Given the description of an element on the screen output the (x, y) to click on. 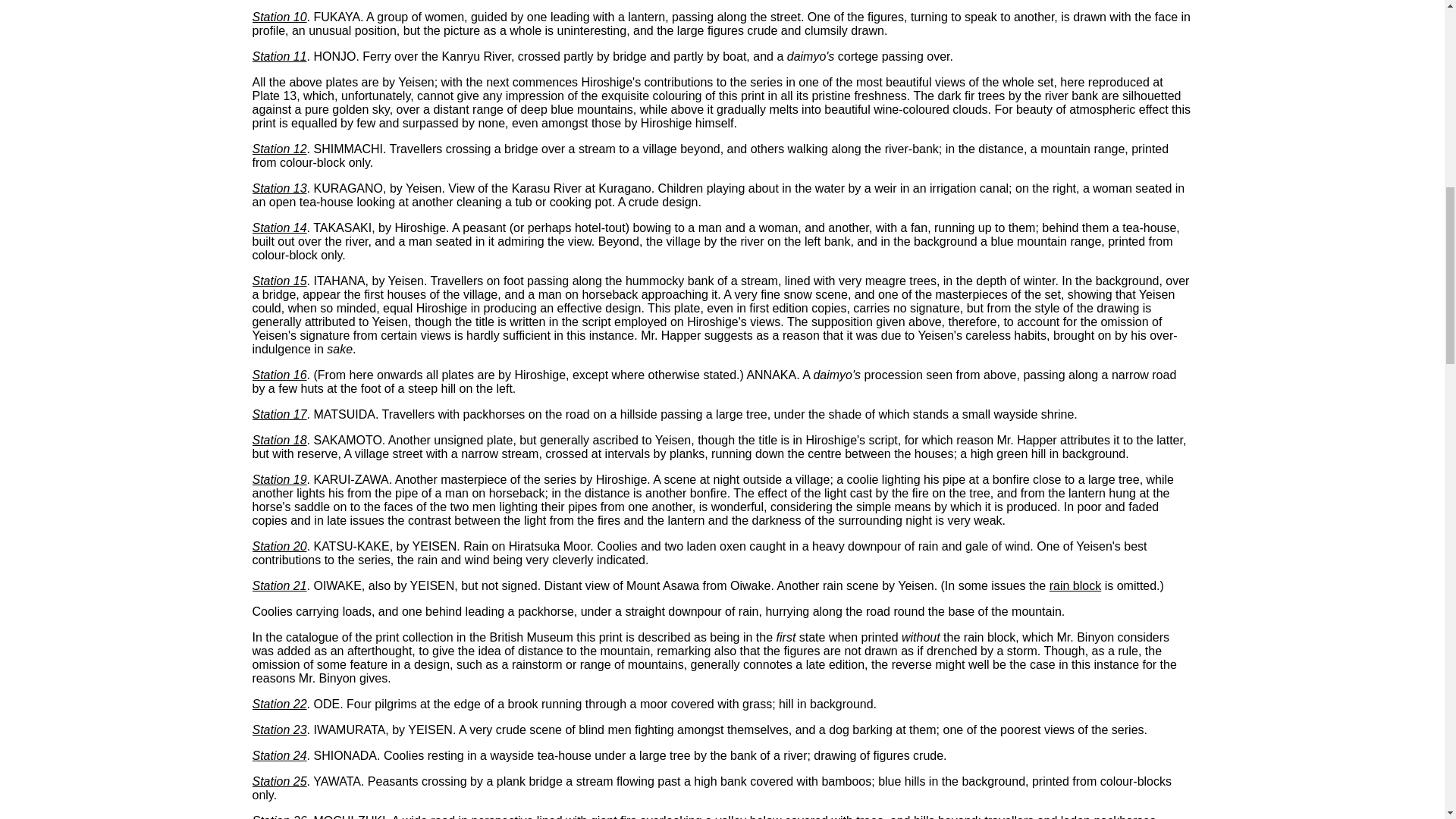
Station 16 (278, 374)
Station 14 (278, 227)
Station 24 (278, 755)
Station 17 (278, 413)
Station 21 (278, 585)
Station 23 (278, 729)
Station 10 (278, 16)
Station 12 (278, 148)
Station 26 (278, 816)
Station 25 (278, 780)
